Given the description of an element on the screen output the (x, y) to click on. 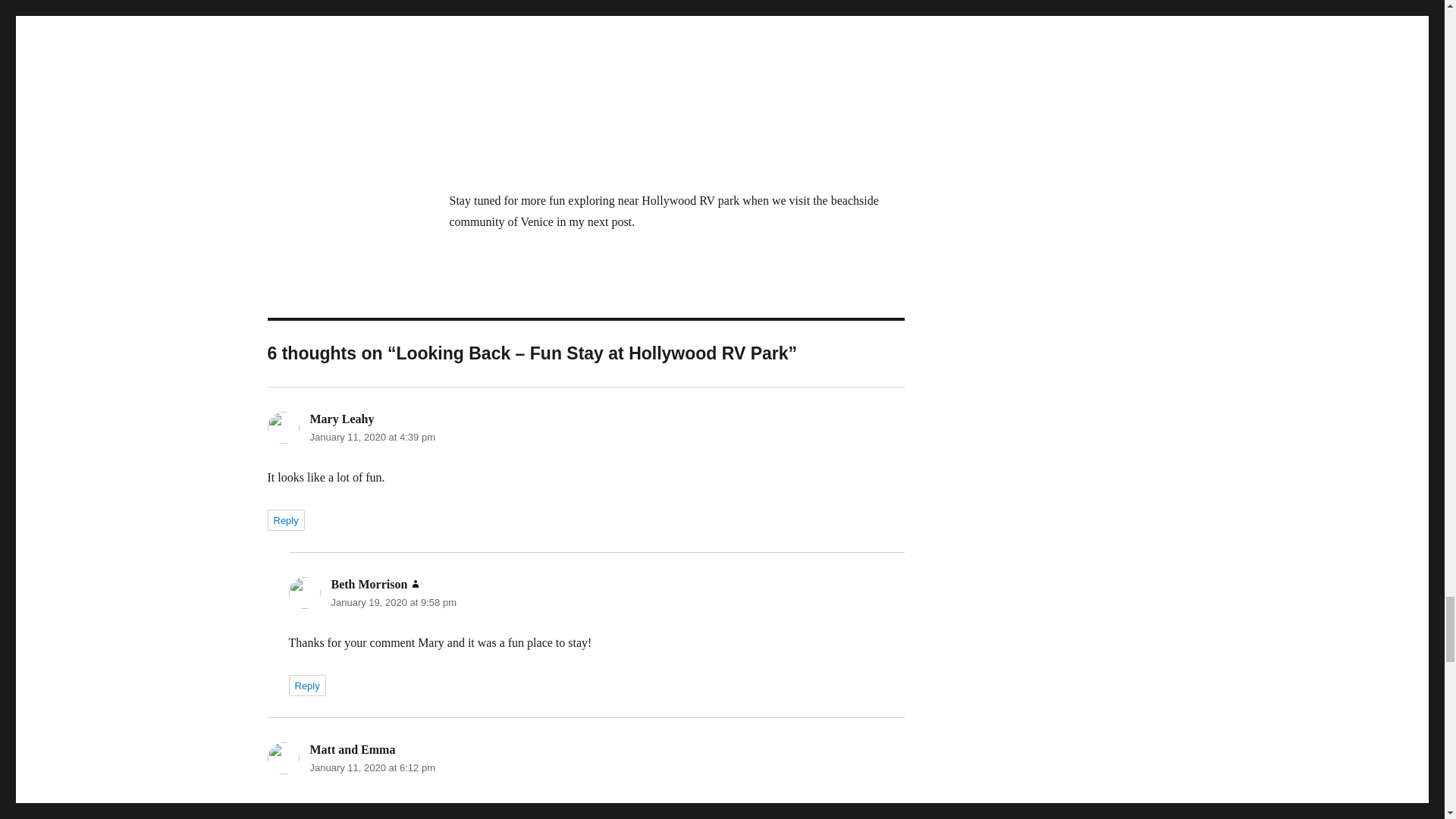
Reply (306, 685)
Reply (285, 519)
January 11, 2020 at 4:39 pm (371, 437)
January 19, 2020 at 9:58 pm (393, 602)
January 11, 2020 at 6:12 pm (371, 767)
